Given the description of an element on the screen output the (x, y) to click on. 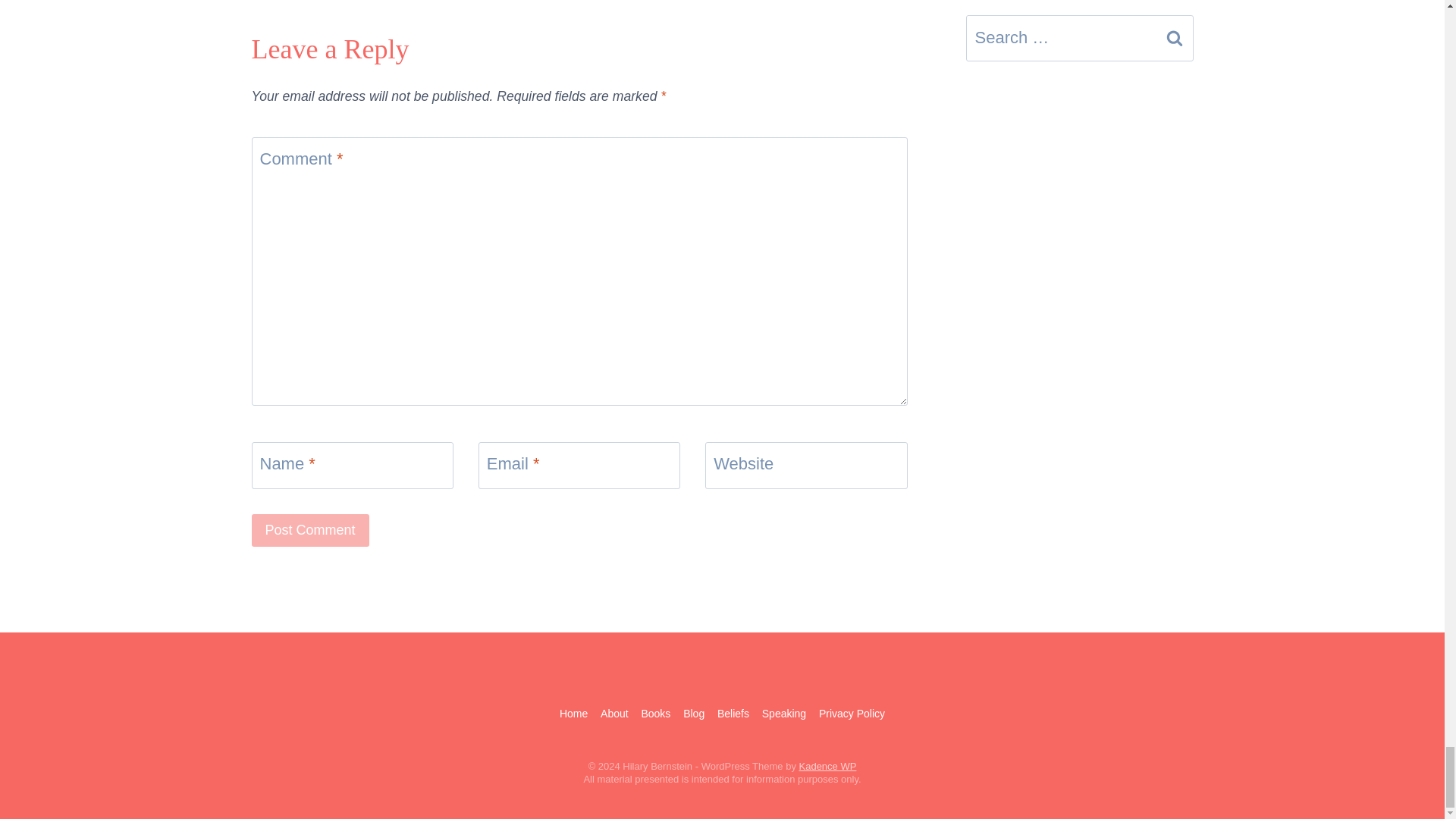
Post Comment (310, 530)
